Given the description of an element on the screen output the (x, y) to click on. 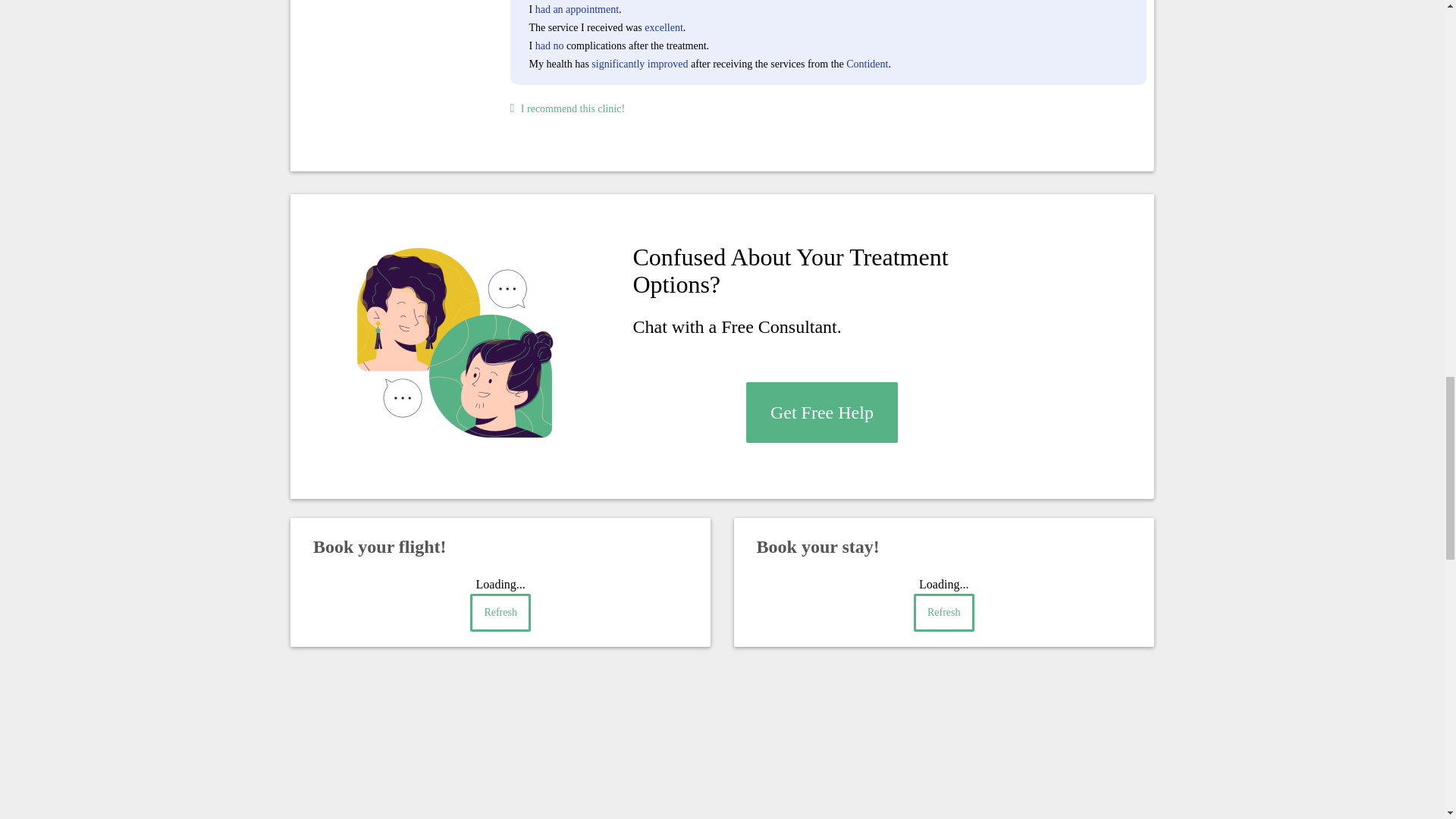
Refresh (944, 612)
Refresh (500, 612)
